Given the description of an element on the screen output the (x, y) to click on. 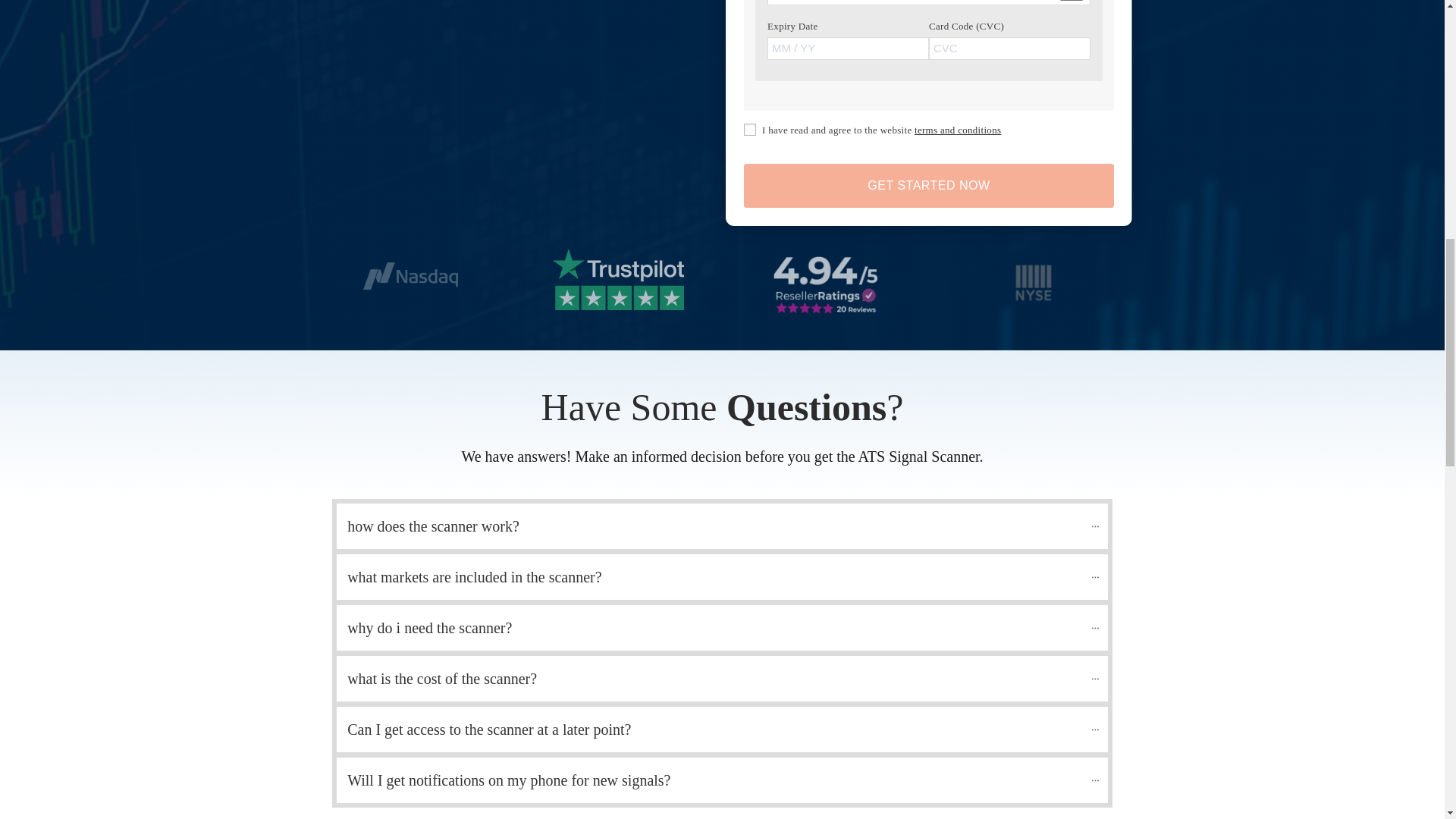
Secure expiration date input frame (847, 48)
terms and conditions (957, 129)
on (749, 129)
Secure CVC input frame (1009, 48)
GET STARTED NOW (928, 185)
